Given the description of an element on the screen output the (x, y) to click on. 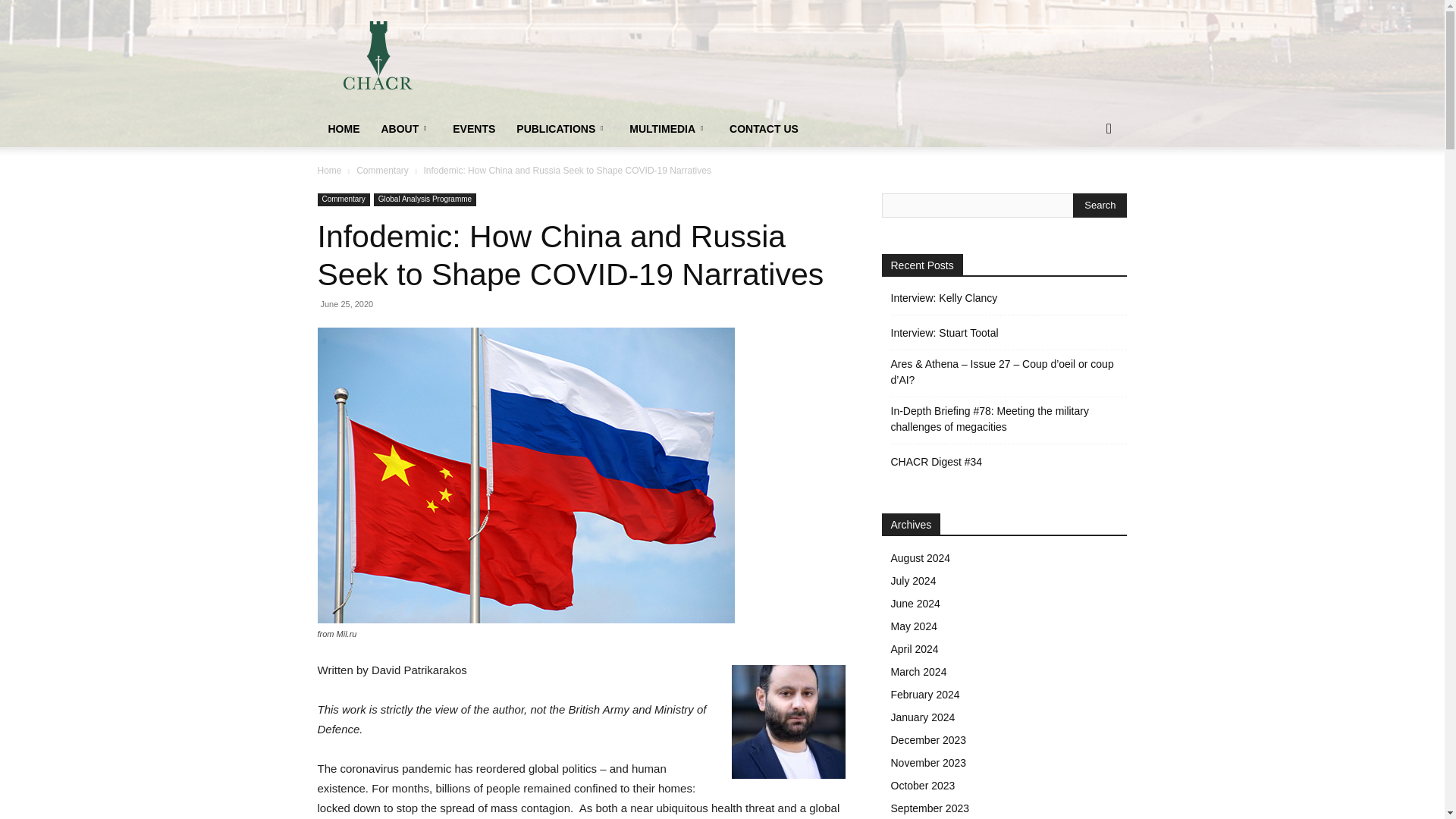
ABOUT (405, 128)
EVENTS (473, 128)
View all posts in Commentary (382, 170)
HOME (343, 128)
Search (1099, 205)
PUBLICATIONS (561, 128)
